Given the description of an element on the screen output the (x, y) to click on. 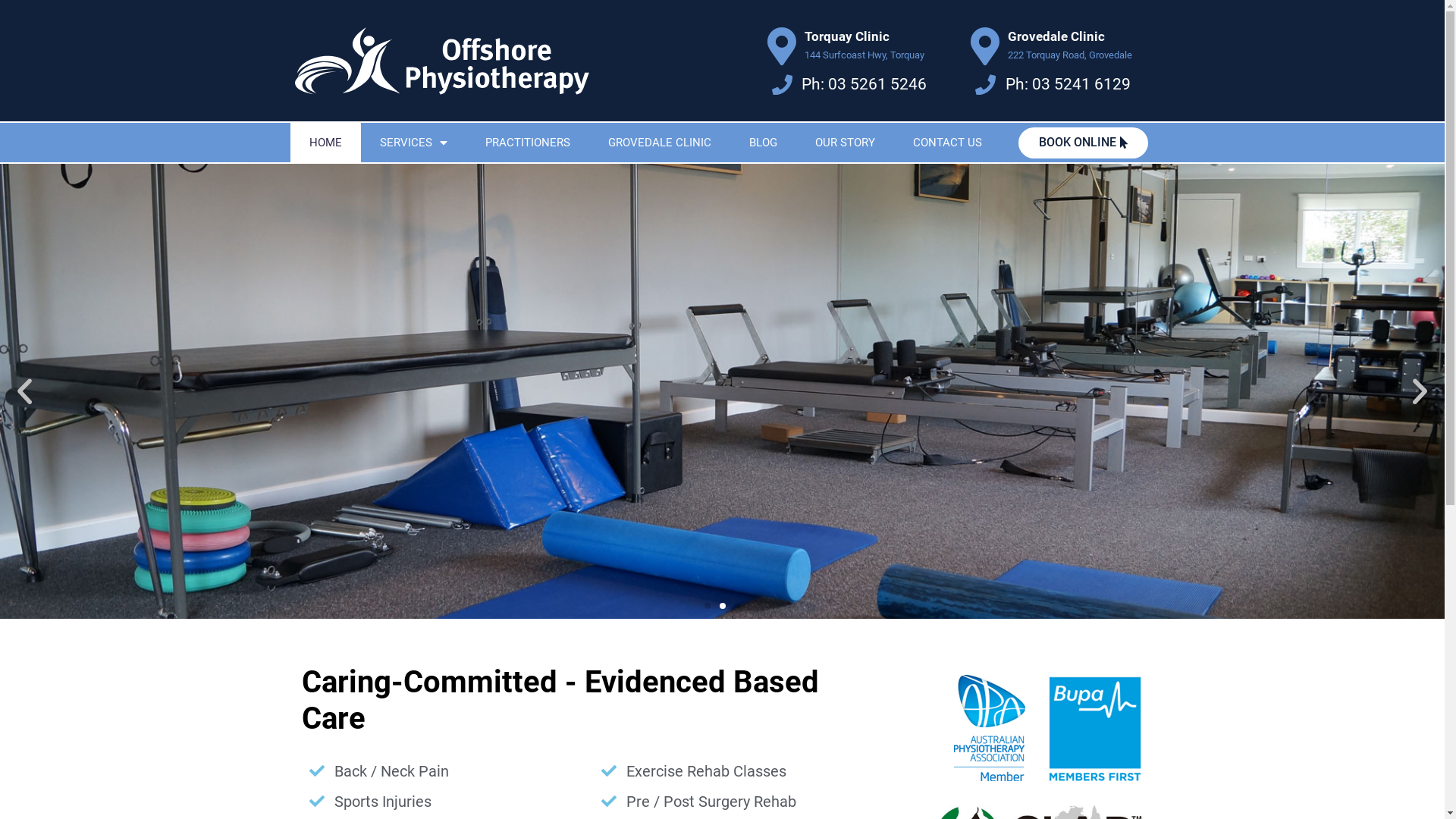
PRACTITIONERS Element type: text (526, 142)
BOOK ONLINE Element type: text (1083, 142)
Exercise Rehab Classes Element type: text (739, 770)
Back / Neck Pain Element type: text (447, 770)
GROVEDALE CLINIC Element type: text (658, 142)
CONTACT US Element type: text (946, 142)
BLOG Element type: text (762, 142)
SERVICES Element type: text (413, 142)
Pre / Post Surgery Rehab Element type: text (739, 801)
OUR STORY Element type: text (845, 142)
Sports Injuries Element type: text (447, 801)
HOME Element type: text (324, 142)
